Given the description of an element on the screen output the (x, y) to click on. 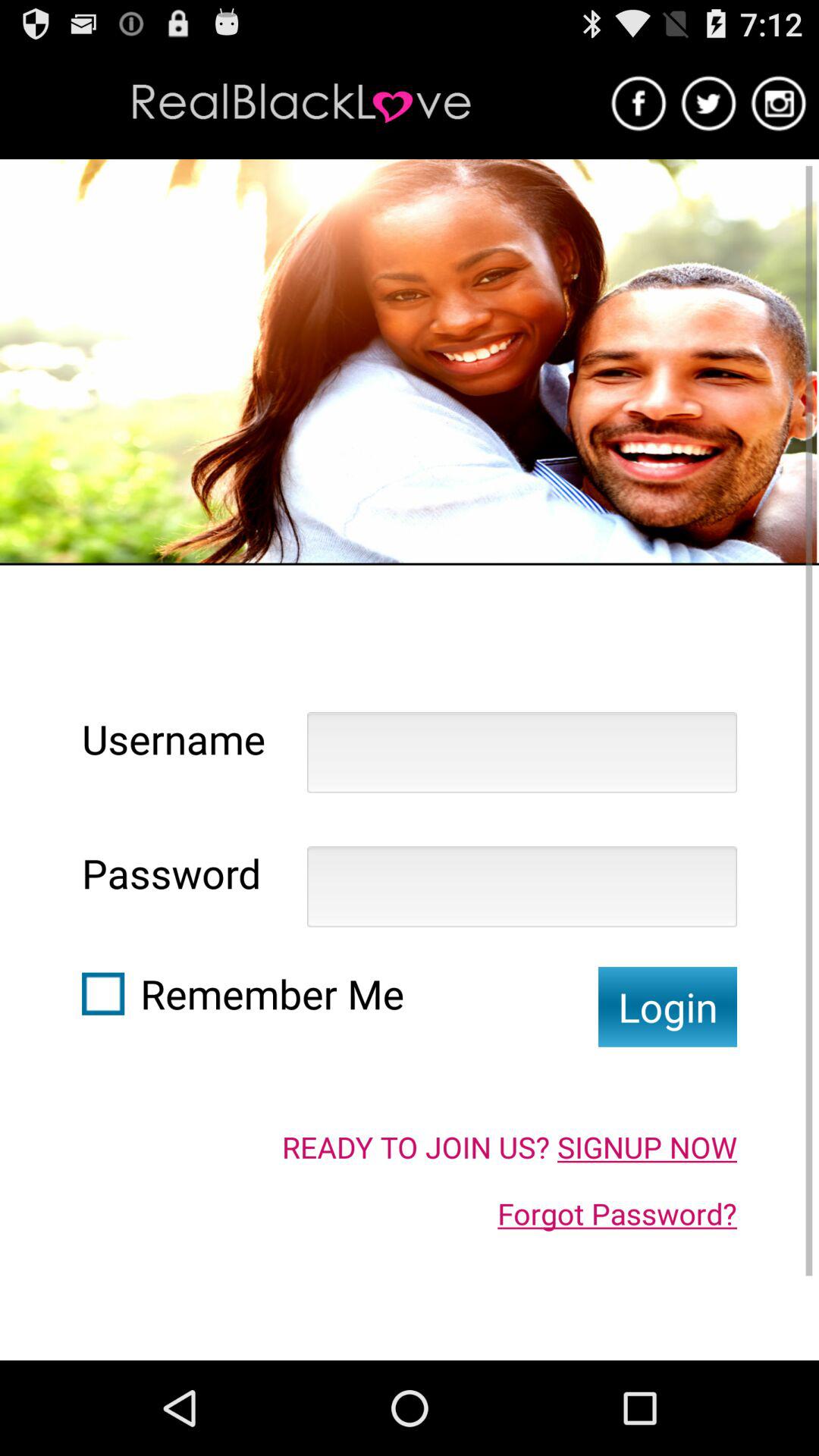
choose the icon below the ready to join icon (617, 1213)
